Given the description of an element on the screen output the (x, y) to click on. 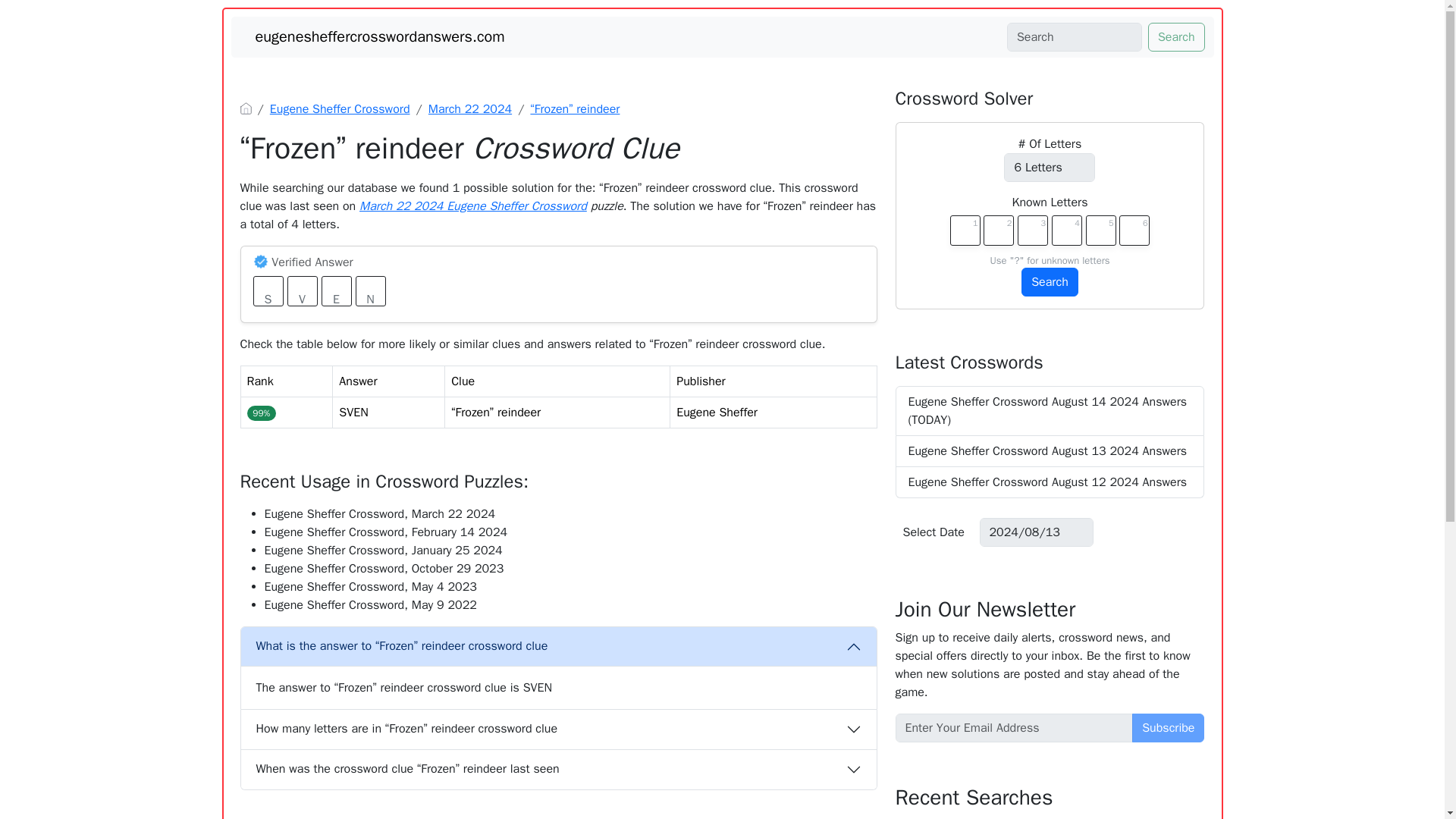
Select Date (934, 532)
March 22 2024 Eugene Sheffer Crossword (472, 206)
March 22 2024 (470, 109)
Eugene Sheffer Crossword (339, 109)
Search (1050, 281)
eugenesheffercrosswordanswers.com (379, 36)
Eugene Sheffer Crossword August 13 2024 Answers (1049, 450)
Eugene Sheffer Crossword August 12 2024 Answers (1049, 481)
Subscribe (1168, 727)
Subscribe (1168, 727)
